Given the description of an element on the screen output the (x, y) to click on. 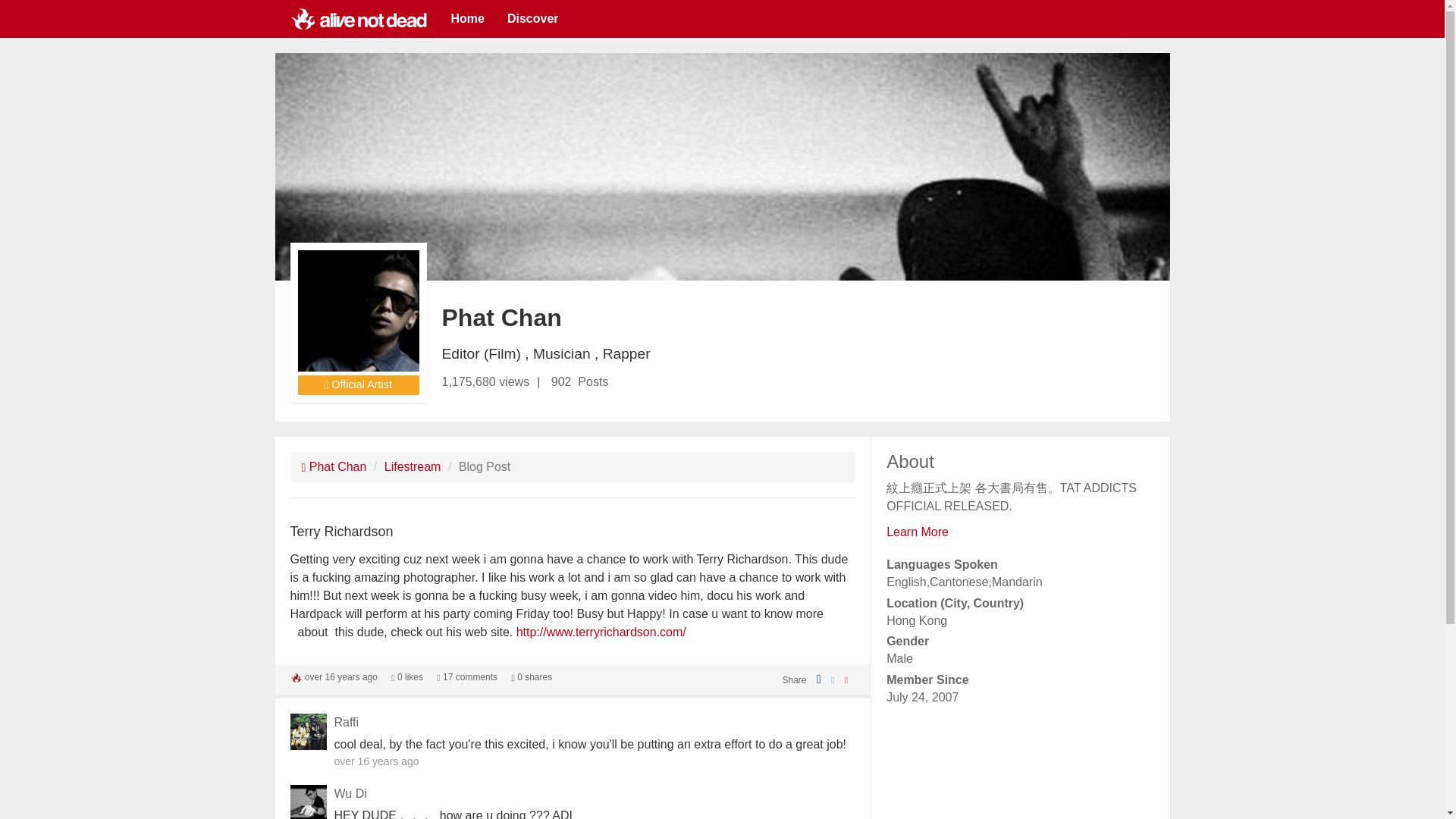
over 16 years ago (340, 676)
Raffi (345, 721)
Wu Di (349, 793)
Home (467, 18)
Learn More (917, 531)
 17 comments (466, 676)
Phat Chan (333, 466)
Discover (533, 18)
Lifestream (412, 466)
